Given the description of an element on the screen output the (x, y) to click on. 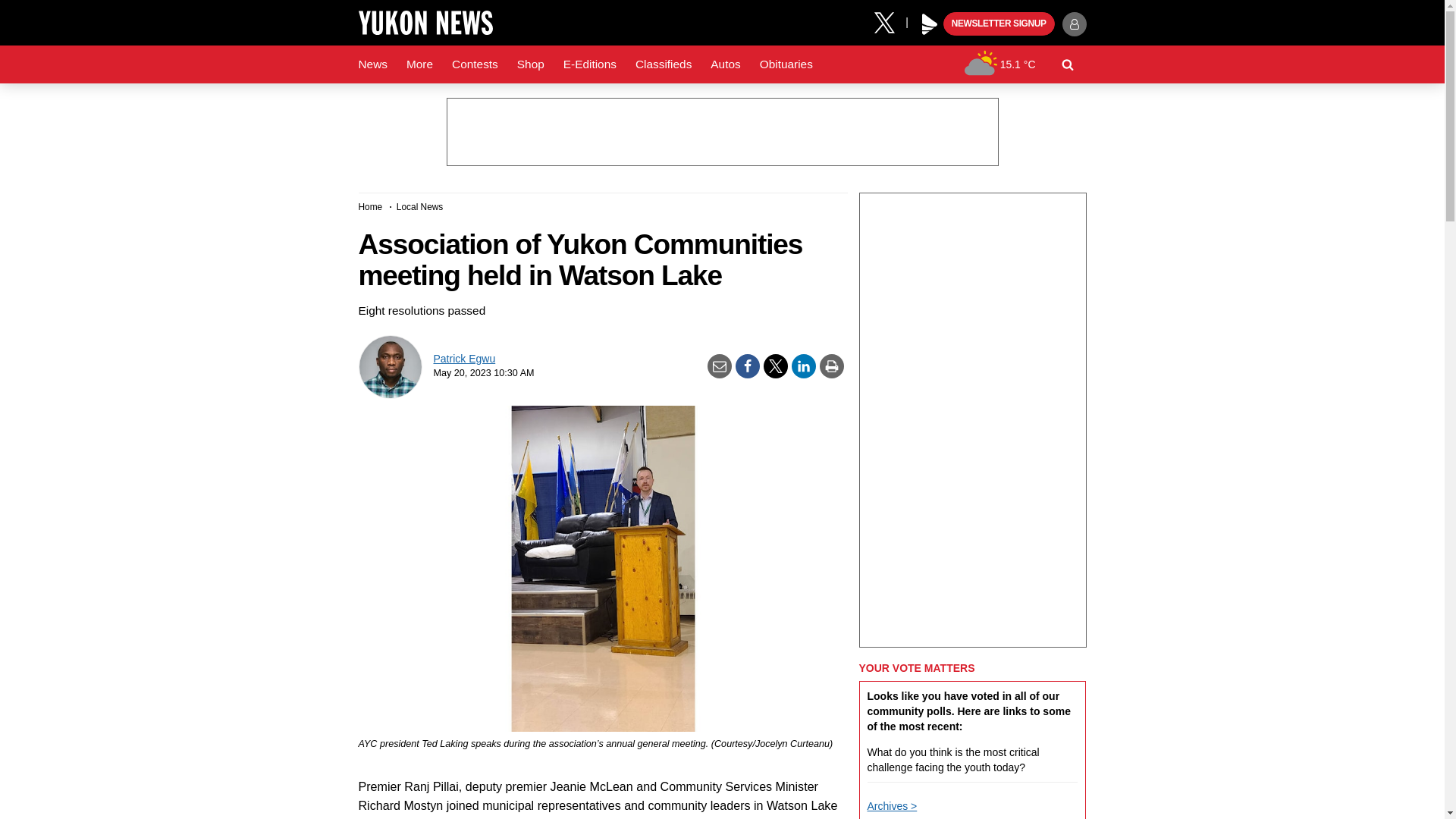
X (889, 21)
NEWSLETTER SIGNUP (998, 24)
Play (929, 24)
Black Press Media (929, 24)
3rd party ad content (721, 131)
News (372, 64)
